Given the description of an element on the screen output the (x, y) to click on. 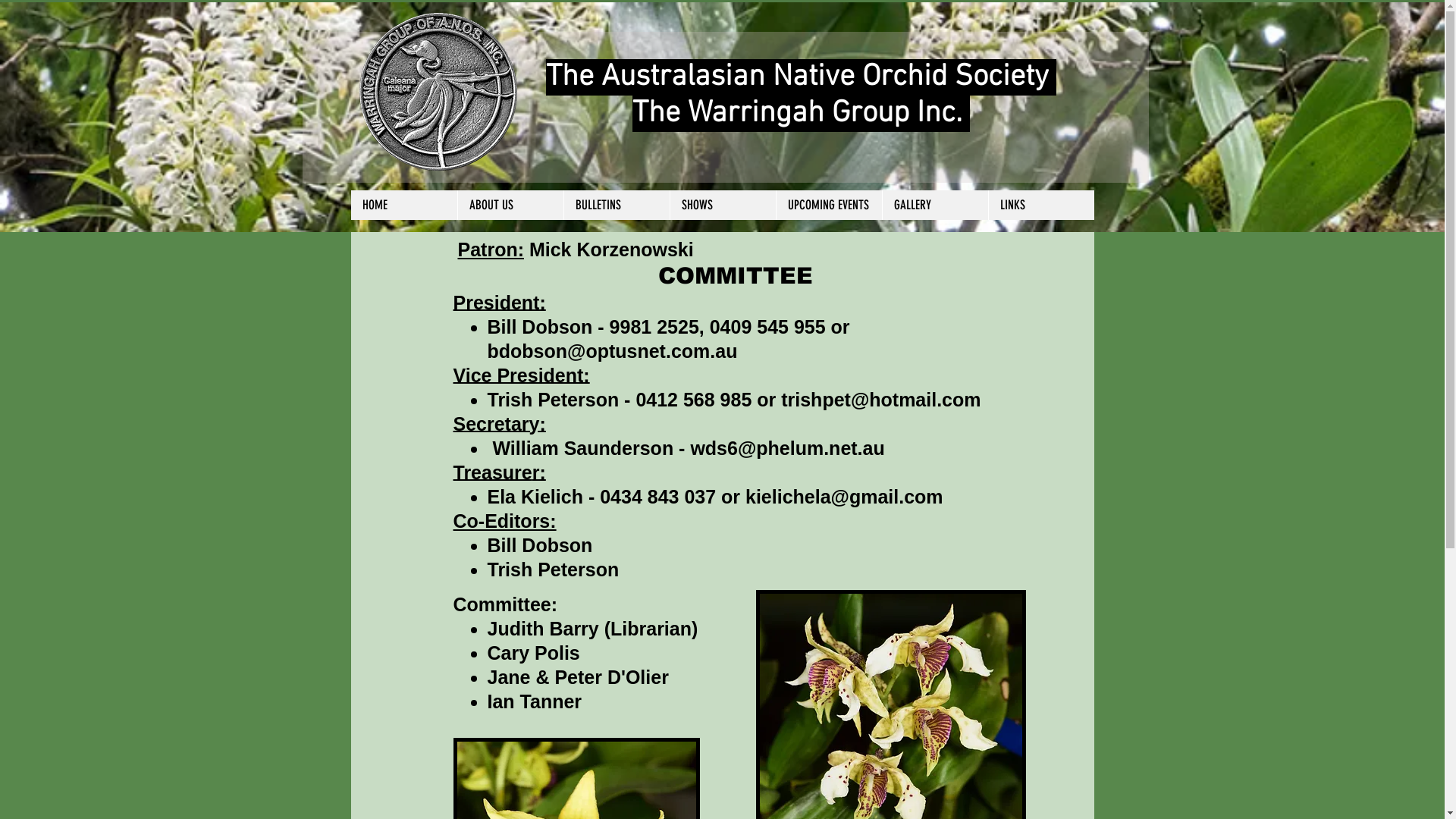
The Warringah Group Inc.  Element type: text (800, 113)
LINKS Element type: text (1040, 204)
HOME Element type: text (403, 204)
bdobson@optusnet.com.au Element type: text (611, 350)
trishpet@hotmail.com Element type: text (880, 399)
wds6@phelum.net.au Element type: text (787, 447)
The Australasian Native Orchid Society  Element type: text (801, 77)
kielichela@gmail.com Element type: text (844, 496)
